Given the description of an element on the screen output the (x, y) to click on. 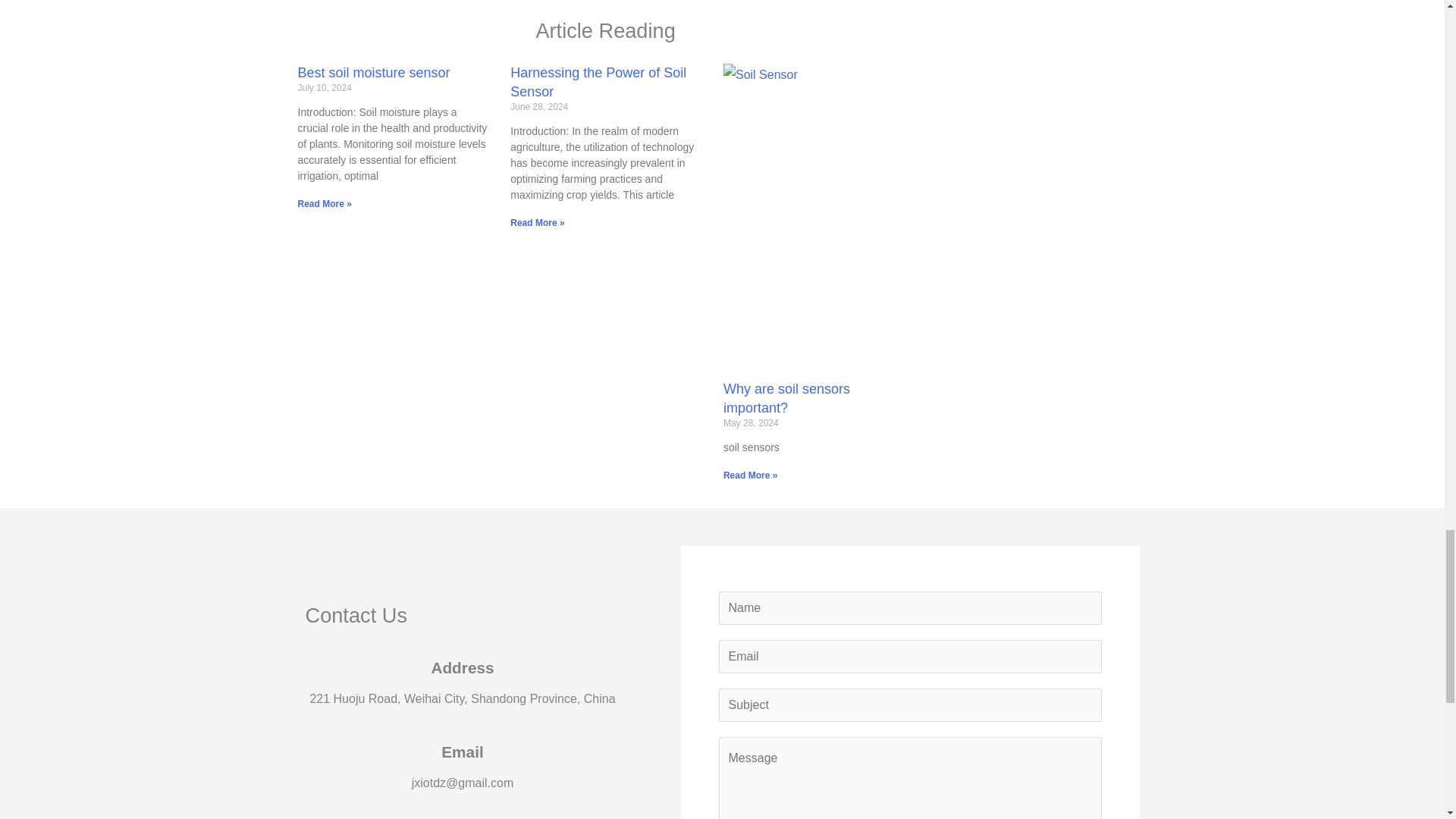
Harnessing the Power of Soil Sensor (598, 82)
Best soil moisture sensor (373, 72)
Why are soil sensors important? (786, 398)
